Given the description of an element on the screen output the (x, y) to click on. 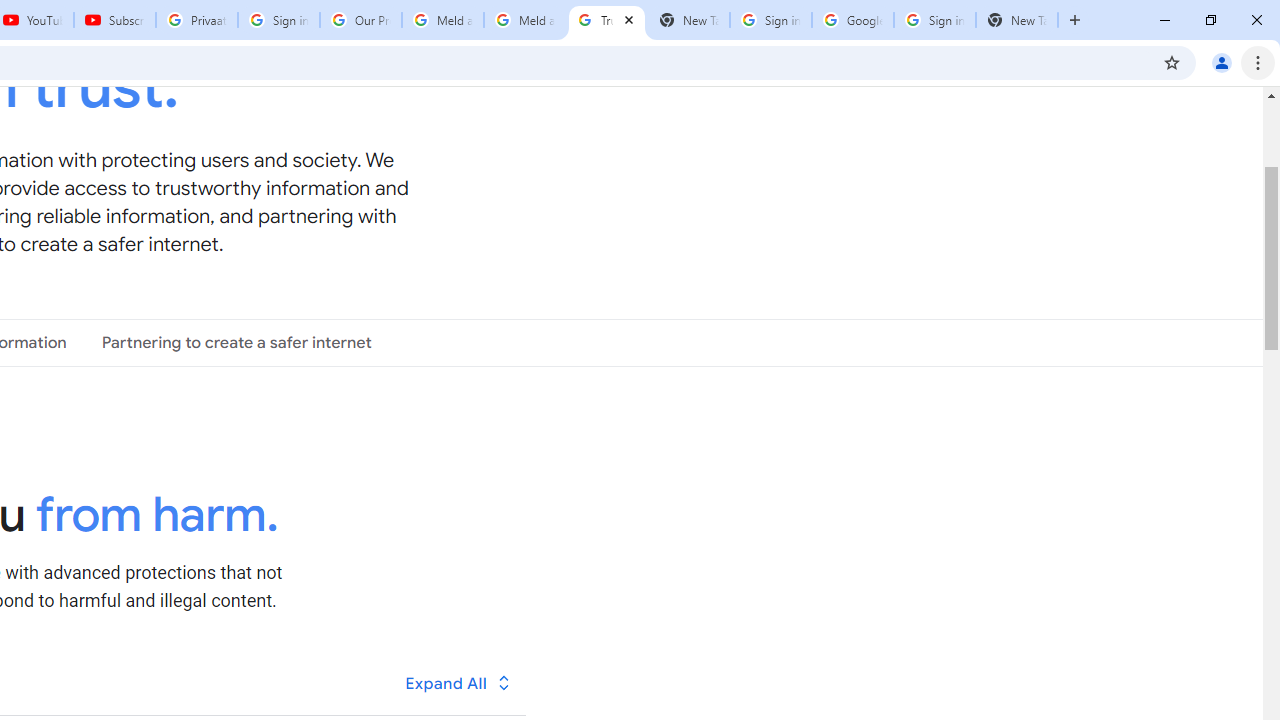
Trusted Information and Content - Google Safety Center (606, 20)
Sign in - Google Accounts (278, 20)
Google Cybersecurity Innovations - Google Safety Center (852, 20)
New Tab (1016, 20)
Partnering to create a safer internet (236, 343)
Sign in - Google Accounts (934, 20)
Subscriptions - YouTube (115, 20)
